Given the description of an element on the screen output the (x, y) to click on. 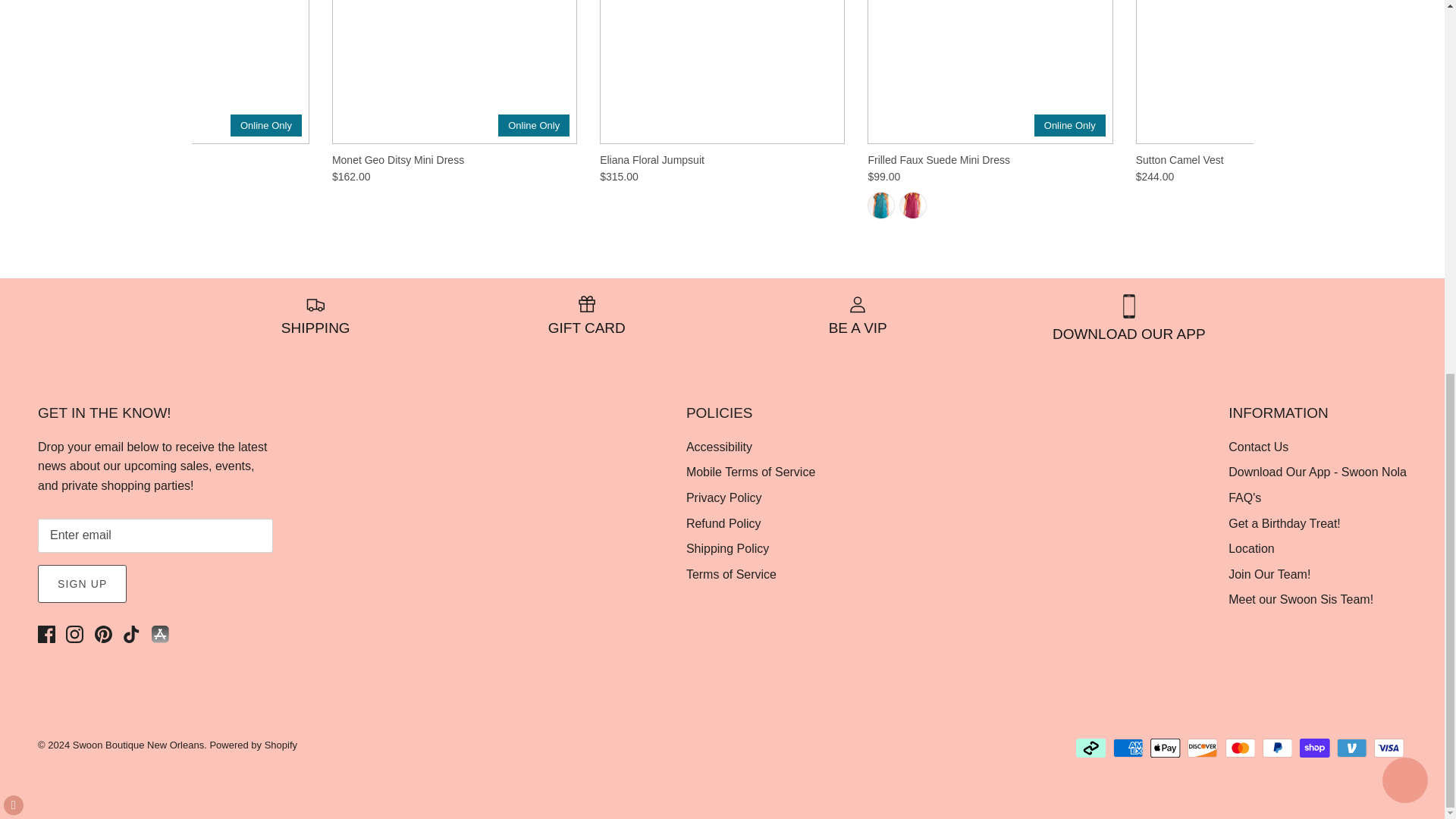
Discover (1202, 747)
Shopify online store chat (1404, 97)
Pinterest (103, 633)
Apple Pay (1165, 747)
Afterpay (1090, 747)
Instagram (73, 633)
American Express (1127, 747)
Facebook (46, 633)
